Given the description of an element on the screen output the (x, y) to click on. 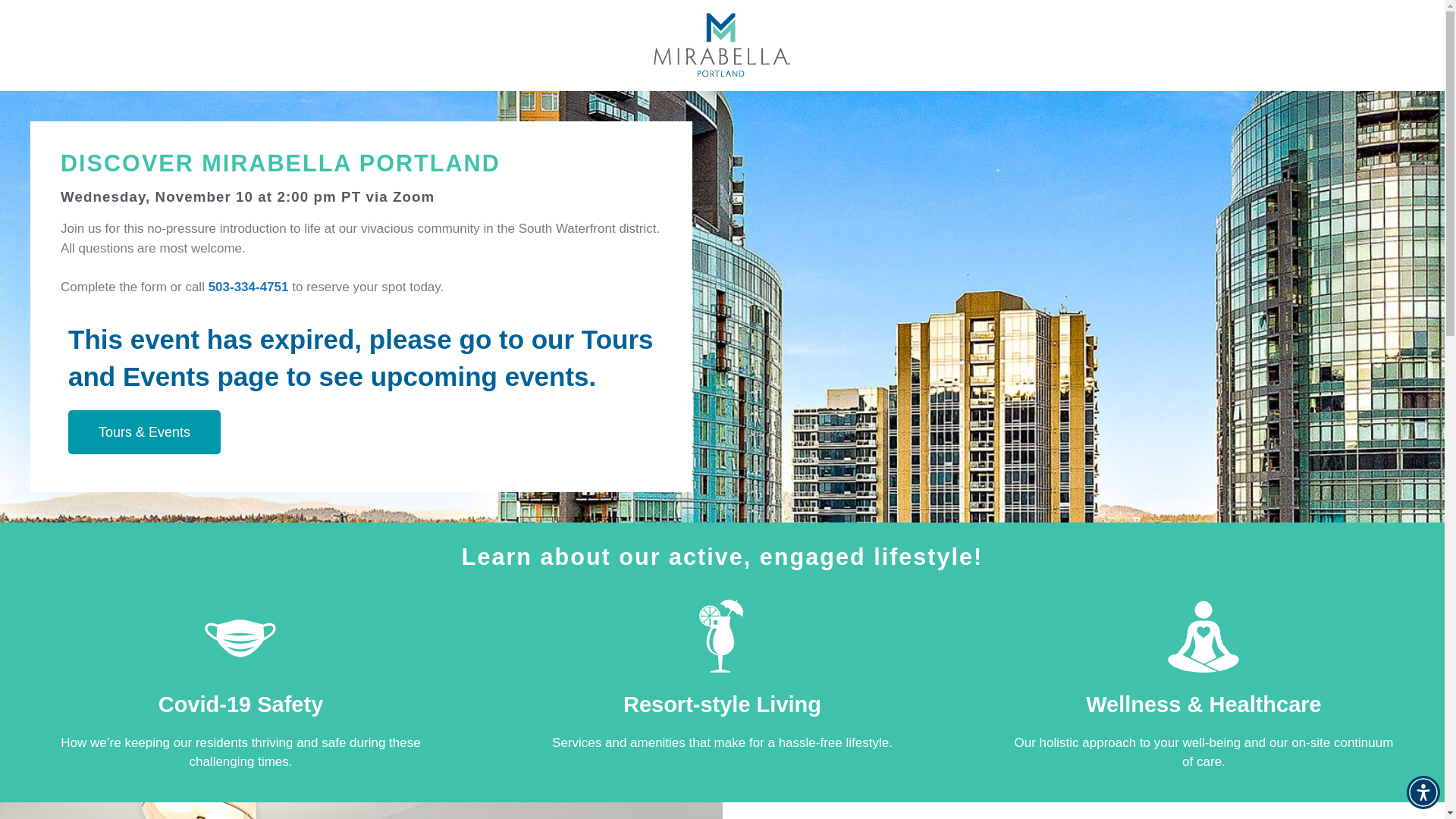
Accessibility Menu (1422, 792)
503-334-4751 (248, 287)
